Given the description of an element on the screen output the (x, y) to click on. 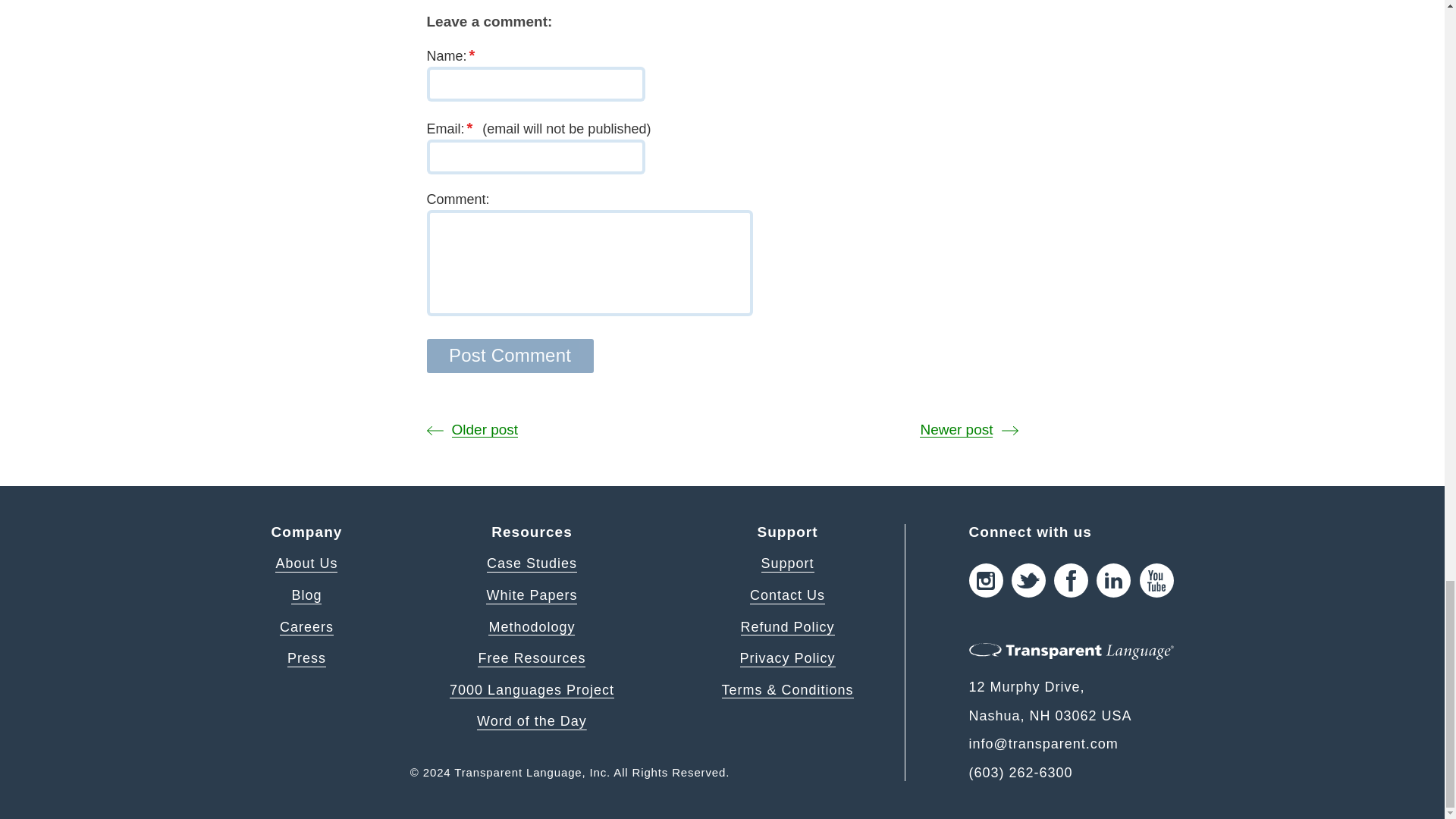
Post Comment (509, 355)
Instagram (986, 580)
Twitter (1028, 580)
YouTube (1155, 580)
Facebook (1070, 580)
LinkedIn (1113, 580)
